Given the description of an element on the screen output the (x, y) to click on. 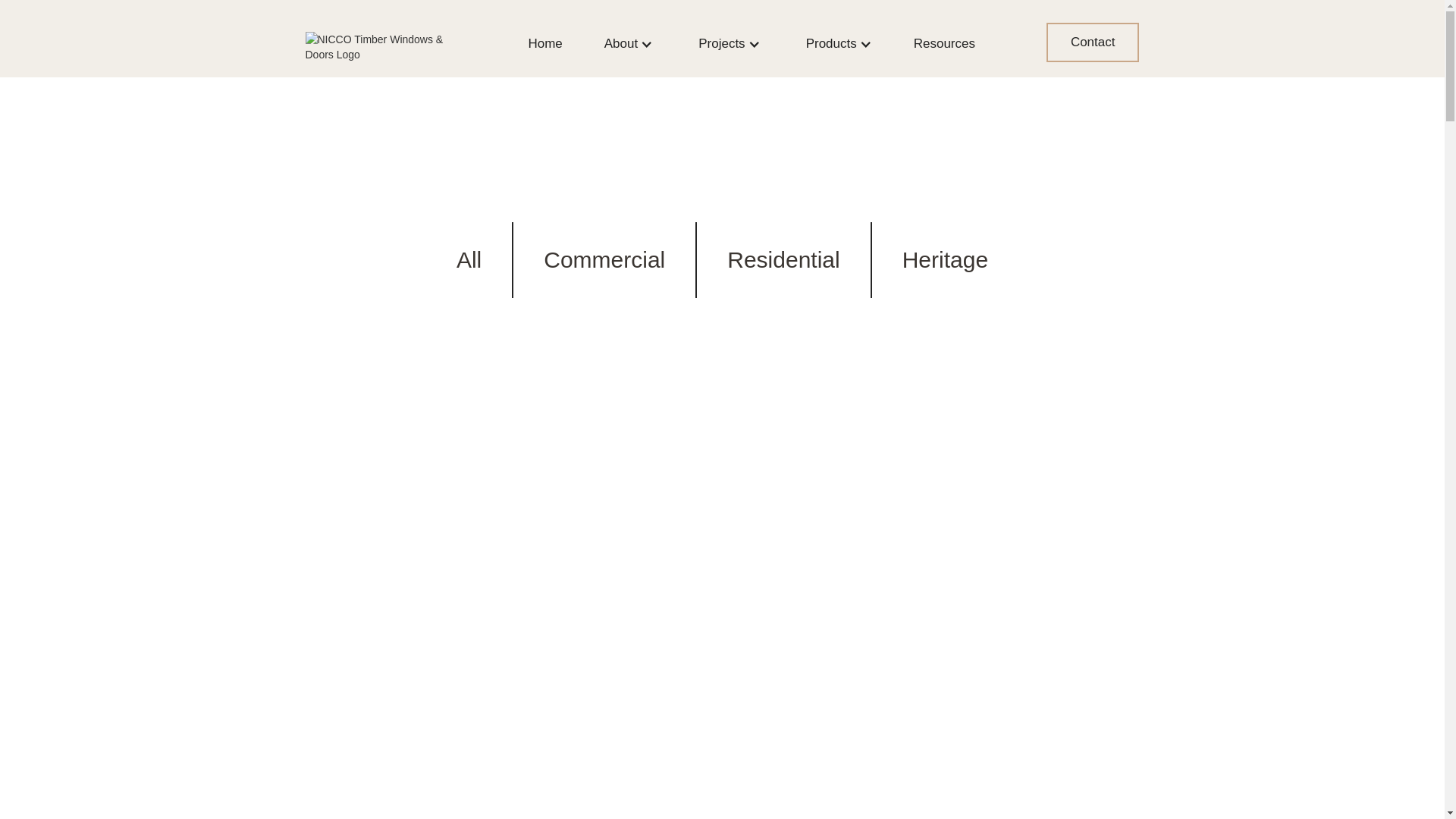
All Element type: text (468, 259)
Residential Element type: text (782, 259)
Home Element type: text (544, 43)
Commercial Element type: text (604, 259)
Contact Element type: text (1092, 42)
Resources Element type: text (944, 43)
Heritage Element type: text (945, 259)
